Given the description of an element on the screen output the (x, y) to click on. 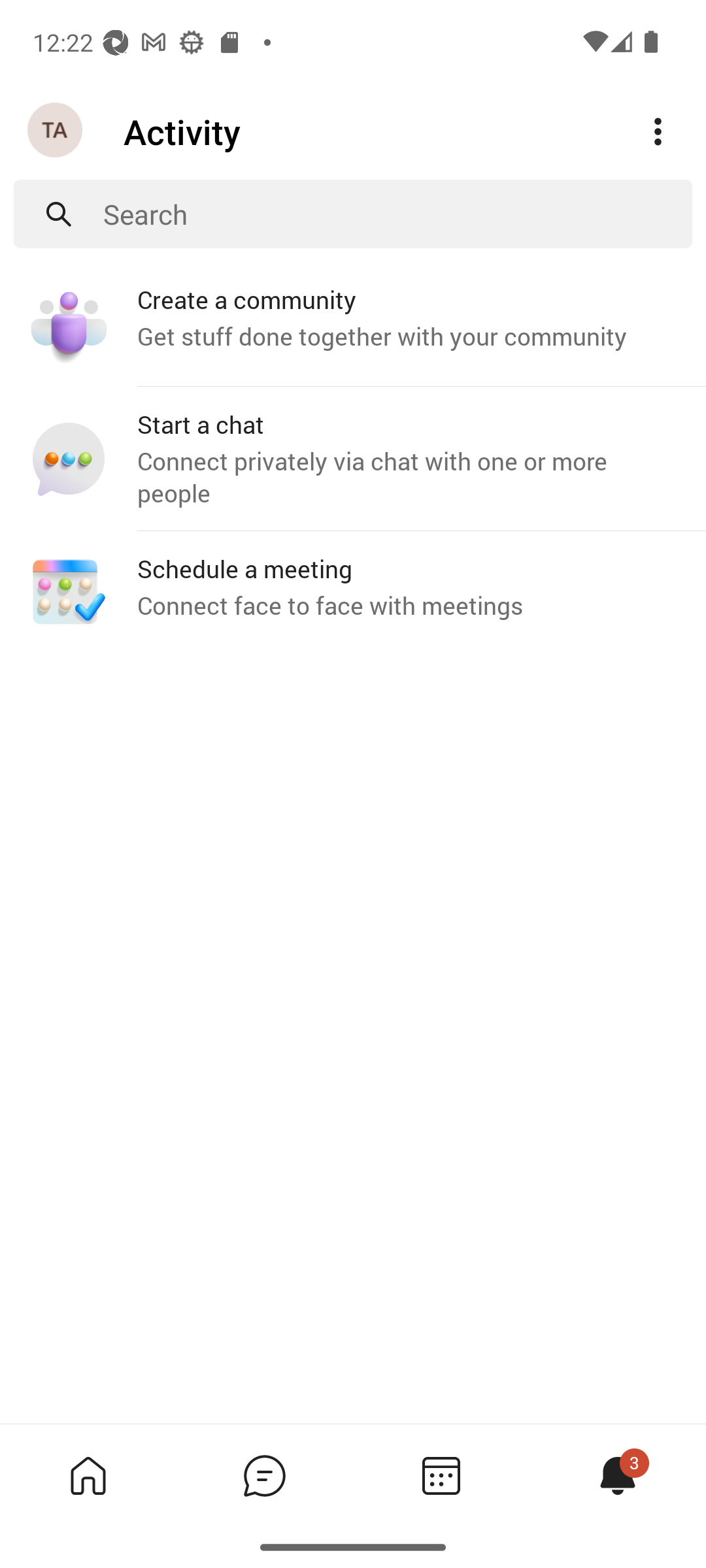
More options (657, 131)
Navigation (56, 130)
Search (397, 213)
Home tab,1 of 4, not selected (88, 1475)
Chat tab,2 of 4, not selected (264, 1475)
Calendar tab,3 of 4, not selected (441, 1475)
Activity tab, 4 of 4, 3 new 3 (617, 1475)
